Given the description of an element on the screen output the (x, y) to click on. 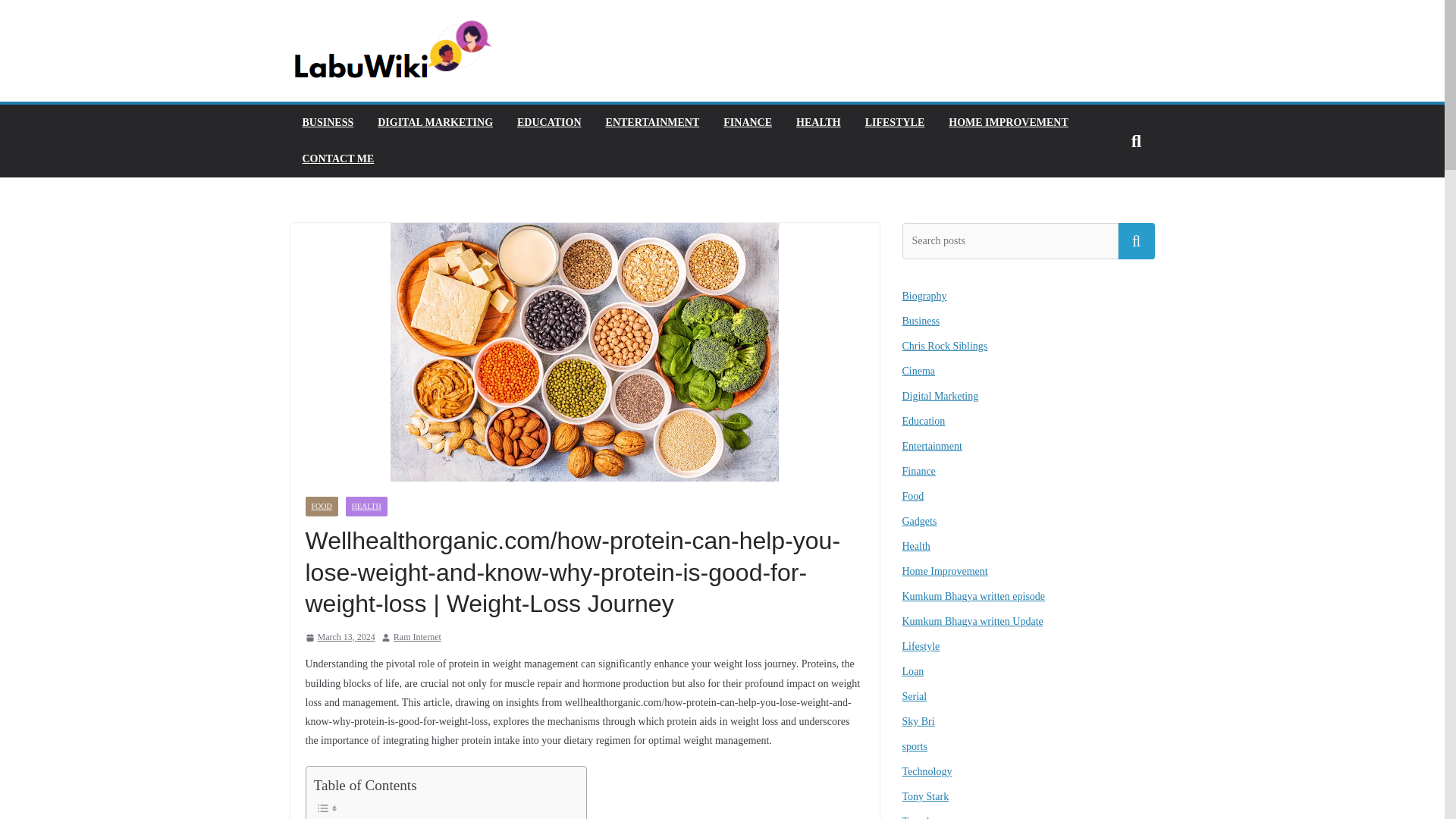
Ram Internet (417, 637)
HEALTH (366, 506)
HEALTH (818, 122)
DIGITAL MARKETING (435, 122)
CONTACT ME (337, 158)
HOME IMPROVEMENT (1008, 122)
FOOD (320, 506)
LIFESTYLE (894, 122)
21:12 (339, 637)
EDUCATION (548, 122)
March 13, 2024 (339, 637)
FINANCE (747, 122)
BUSINESS (327, 122)
ENTERTAINMENT (652, 122)
Ram Internet (417, 637)
